Given the description of an element on the screen output the (x, y) to click on. 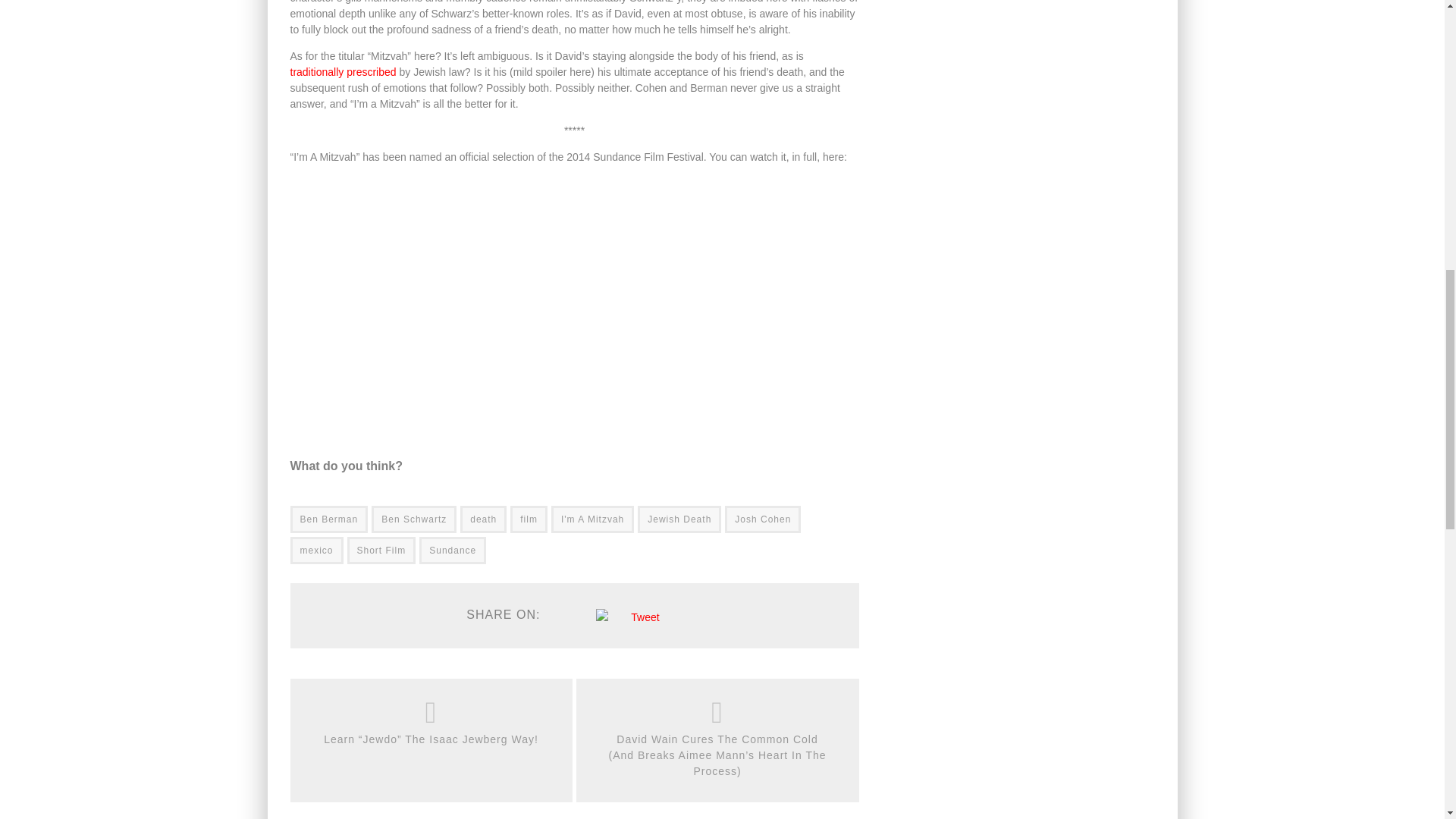
traditionally prescribed (342, 71)
death (483, 519)
Jewish Death (678, 519)
Short Film (381, 550)
I'm A Mitzvah (592, 519)
Josh Cohen (762, 519)
Ben Schwartz (414, 519)
mexico (315, 550)
Sundance (452, 550)
film (529, 519)
